Given the description of an element on the screen output the (x, y) to click on. 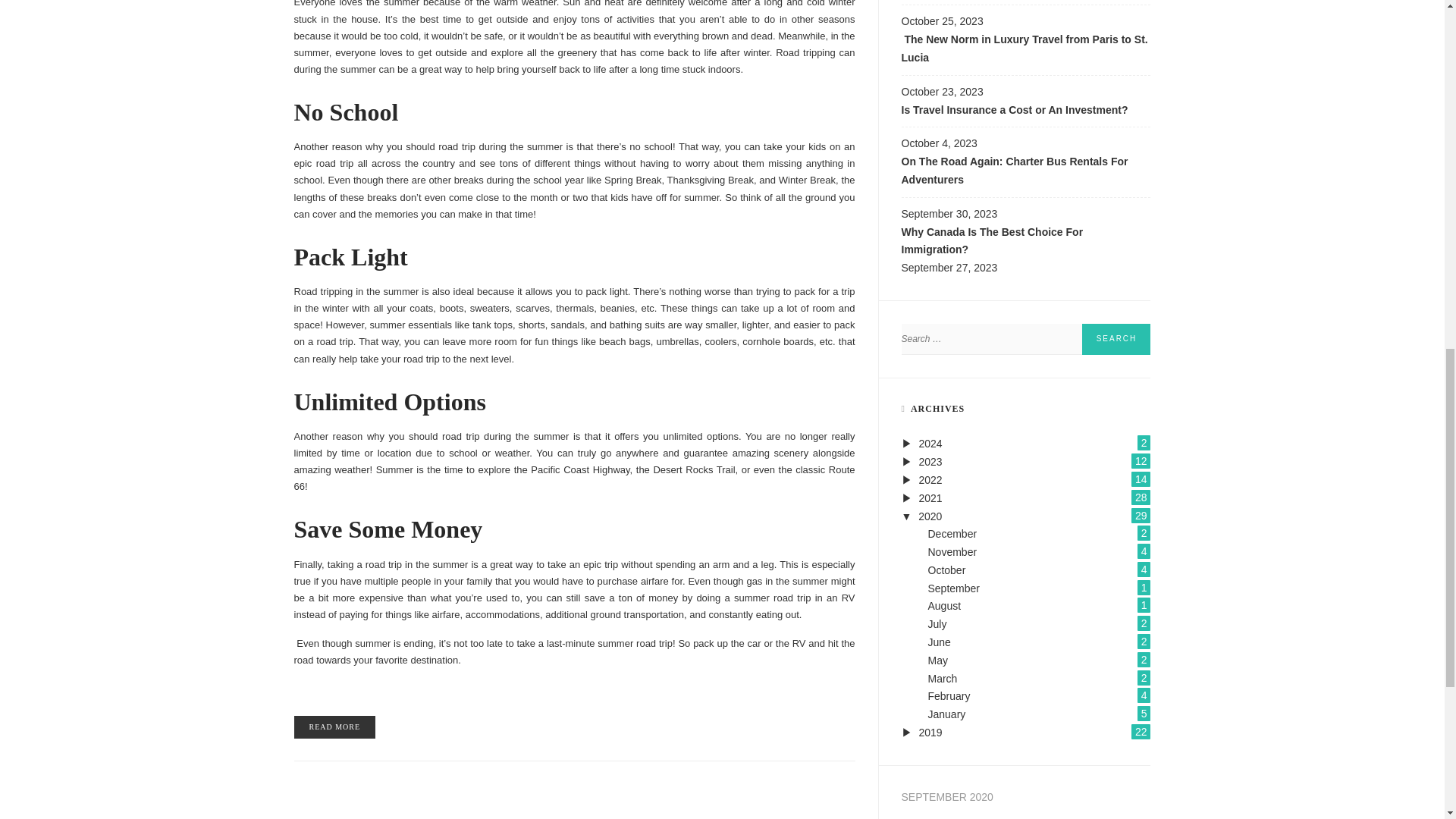
Search (1115, 338)
Why You Should Road Trip in the Summer (334, 726)
READ MORE (334, 726)
Search (1115, 338)
